Given the description of an element on the screen output the (x, y) to click on. 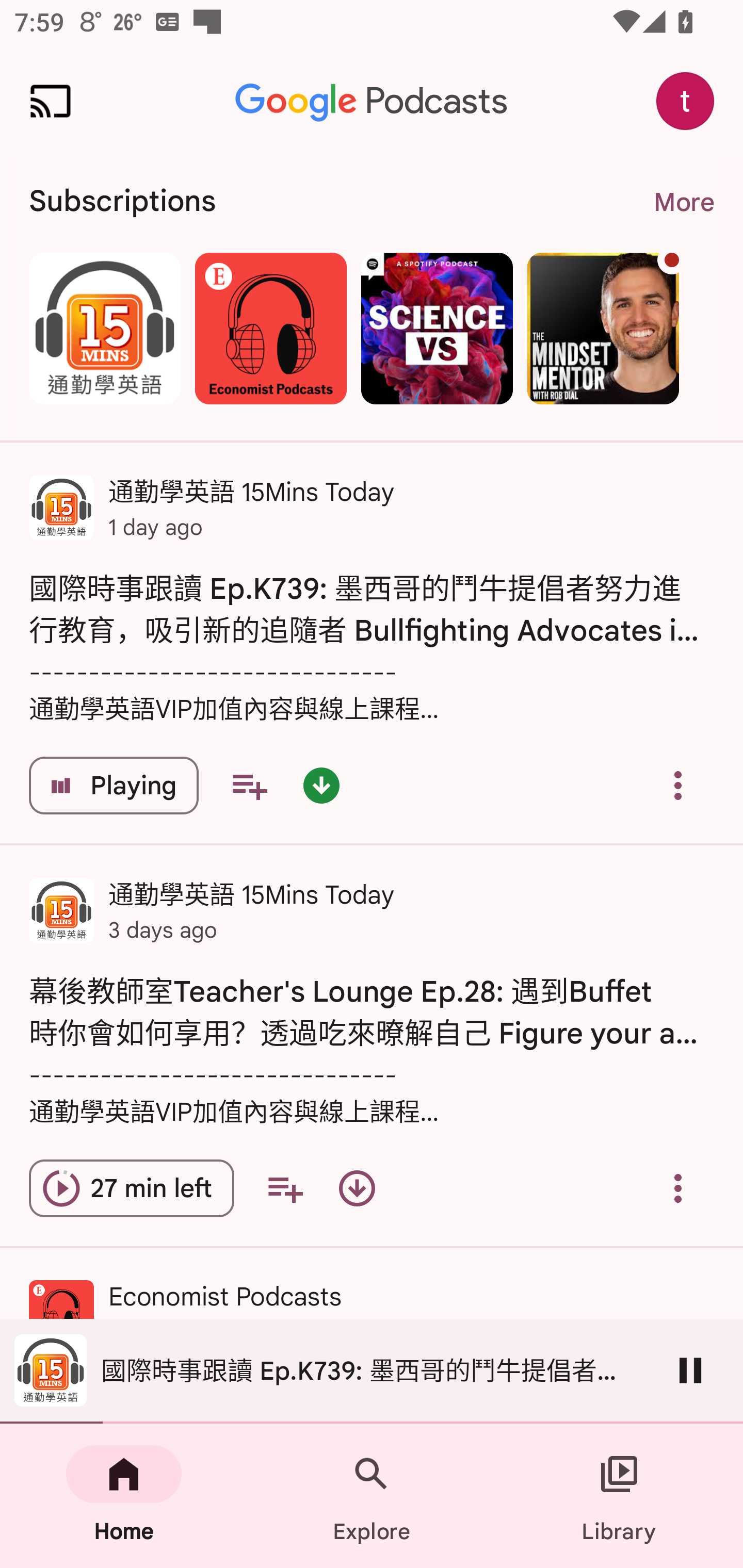
Cast. Disconnected (50, 101)
More More. Navigate to subscriptions page. (683, 202)
通勤學英語 15Mins Today (104, 328)
Economist Podcasts (270, 328)
Science Vs (436, 328)
The Mindset Mentor (603, 328)
Add to your queue (249, 785)
Episode downloaded - double tap for options (321, 785)
Overflow menu (677, 785)
Add to your queue (284, 1188)
Download episode (356, 1188)
Overflow menu (677, 1188)
Pause (690, 1370)
Explore (371, 1495)
Library (619, 1495)
